Given the description of an element on the screen output the (x, y) to click on. 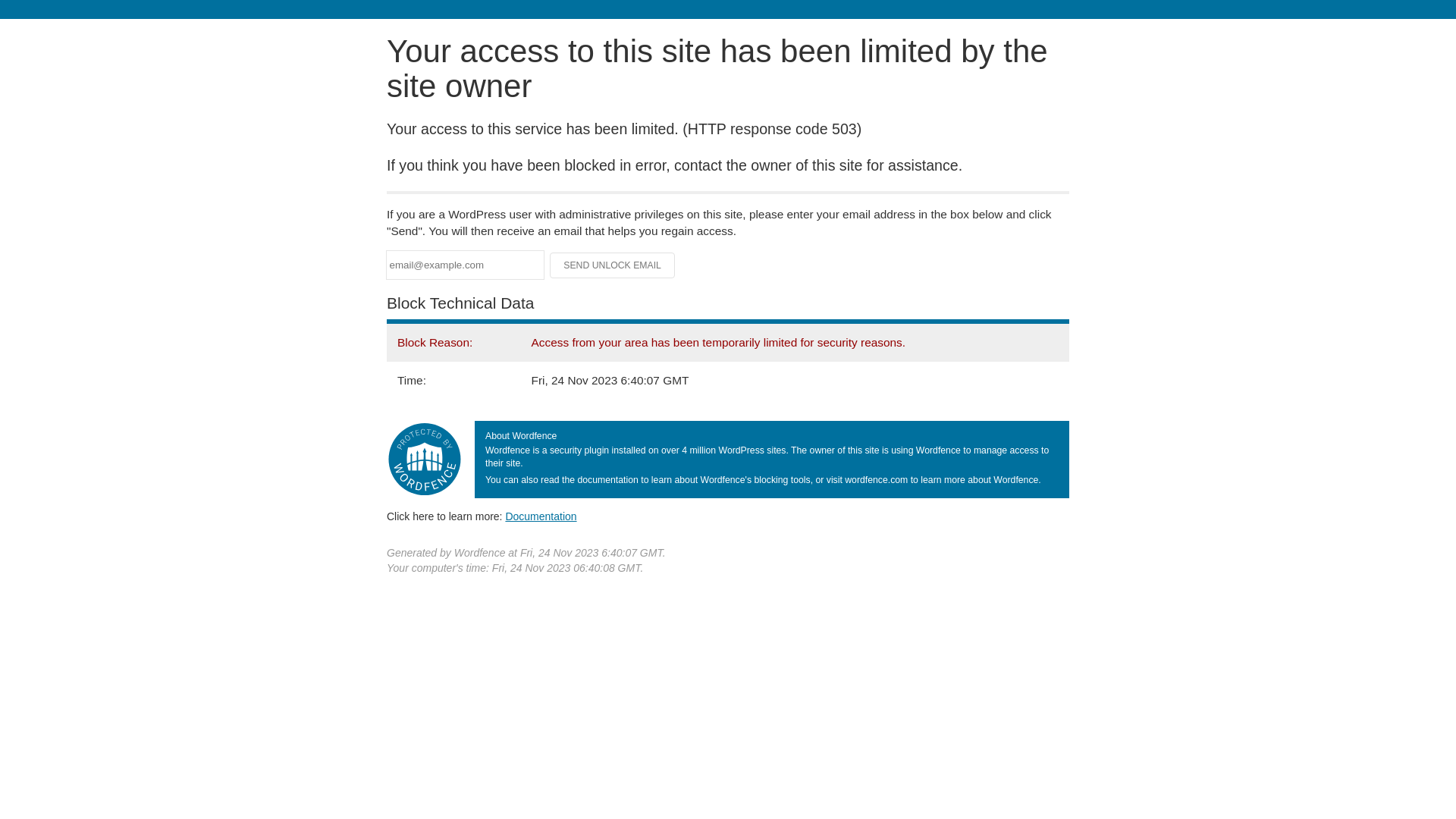
Documentation Element type: text (540, 516)
Send Unlock Email Element type: text (612, 265)
